Given the description of an element on the screen output the (x, y) to click on. 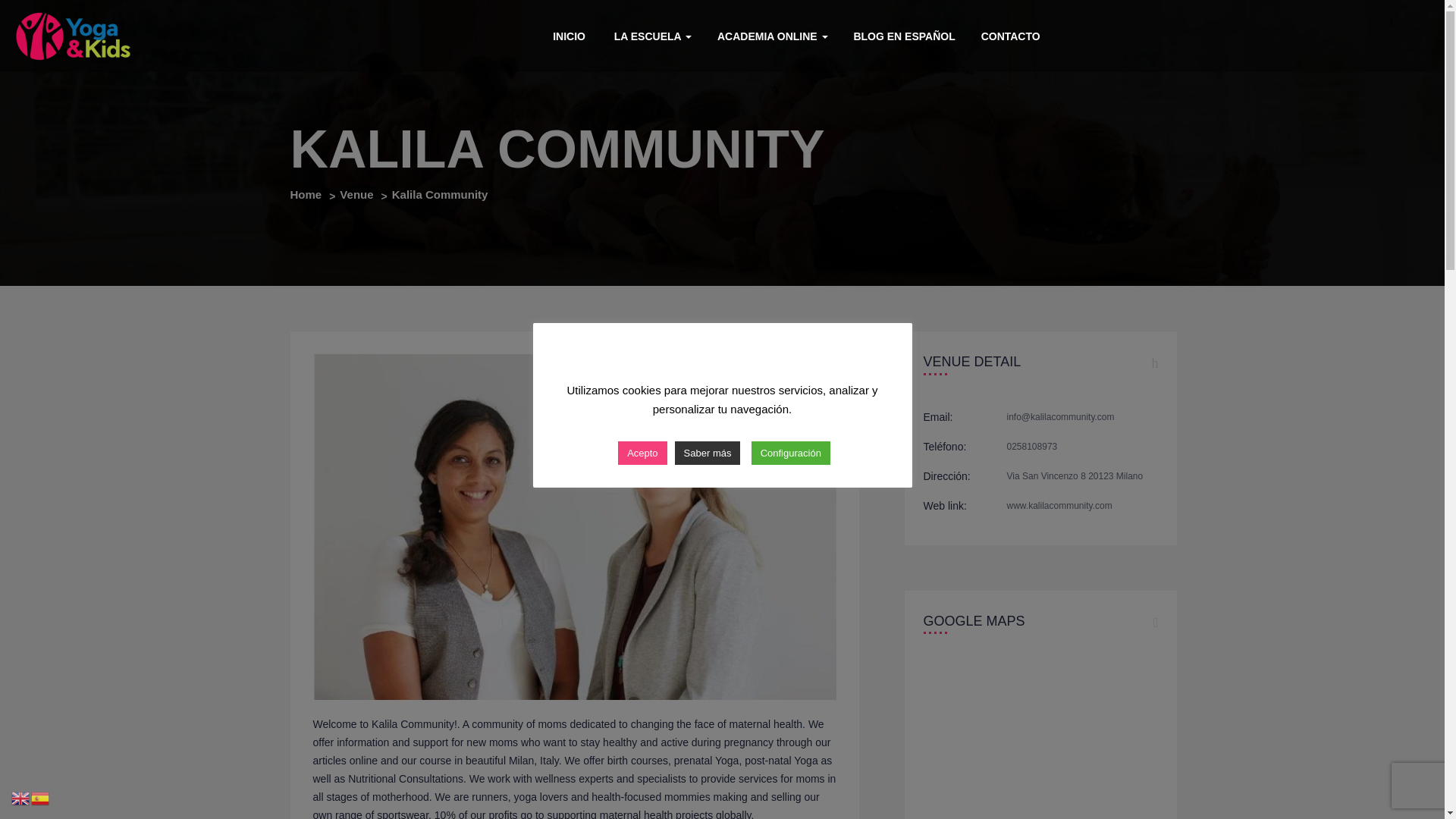
La Escuela (651, 35)
Inicio (567, 35)
English (20, 797)
 INICIO (567, 35)
 LA ESCUELA (651, 35)
Contacto (1010, 35)
ACADEMIA ONLINE (773, 35)
CONTACTO (1010, 35)
Acepto (641, 453)
Venue (355, 194)
